Given the description of an element on the screen output the (x, y) to click on. 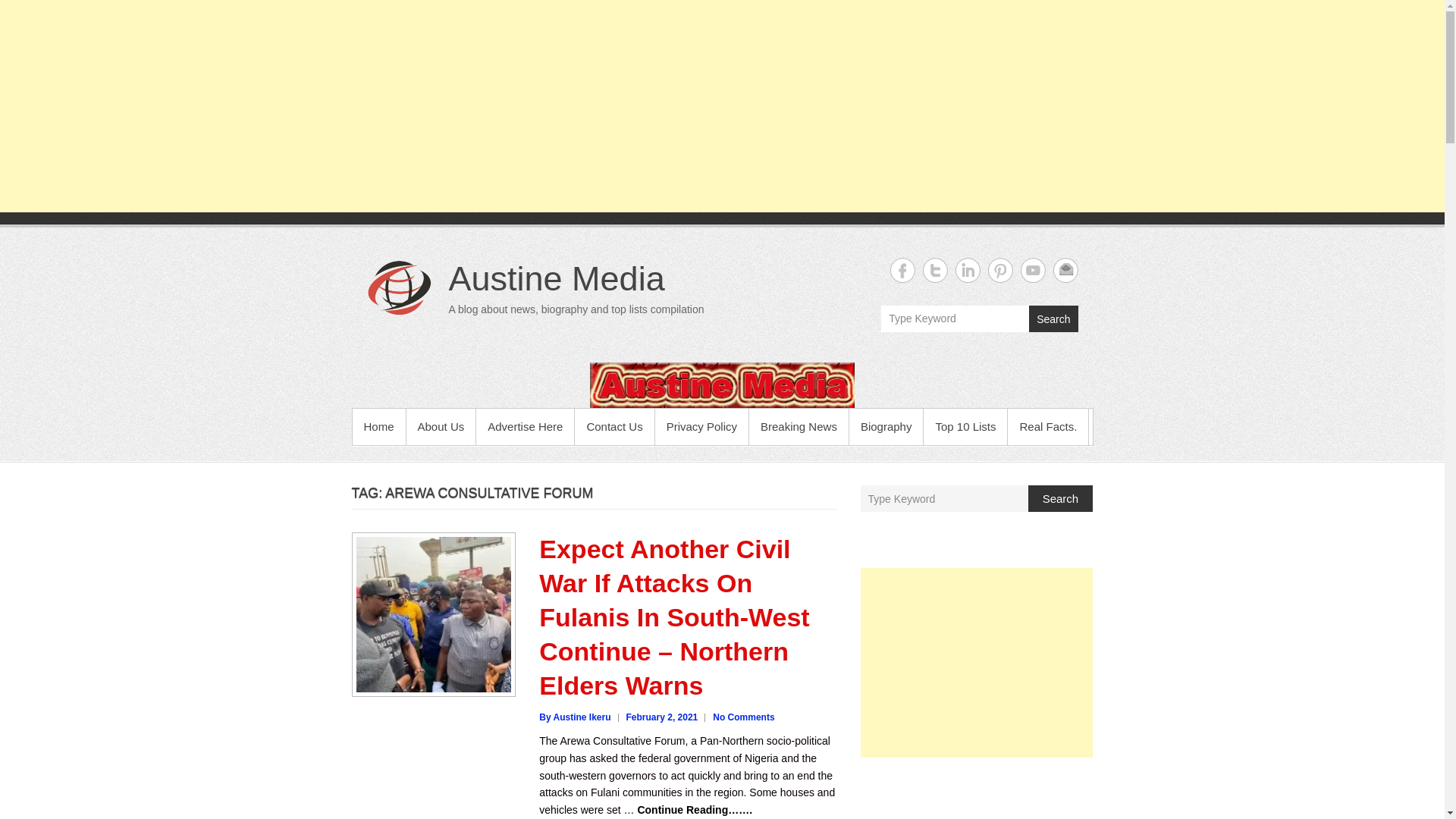
Austine Media (556, 278)
Austine Media Linkedin (967, 269)
Search (1053, 318)
By Austine Ikeru (574, 716)
Austine Media on YouTube (1032, 269)
Austine Media Email (1064, 269)
Type Keyword (955, 318)
Advertise Here (524, 426)
Austine Media Twitter (934, 269)
